Given the description of an element on the screen output the (x, y) to click on. 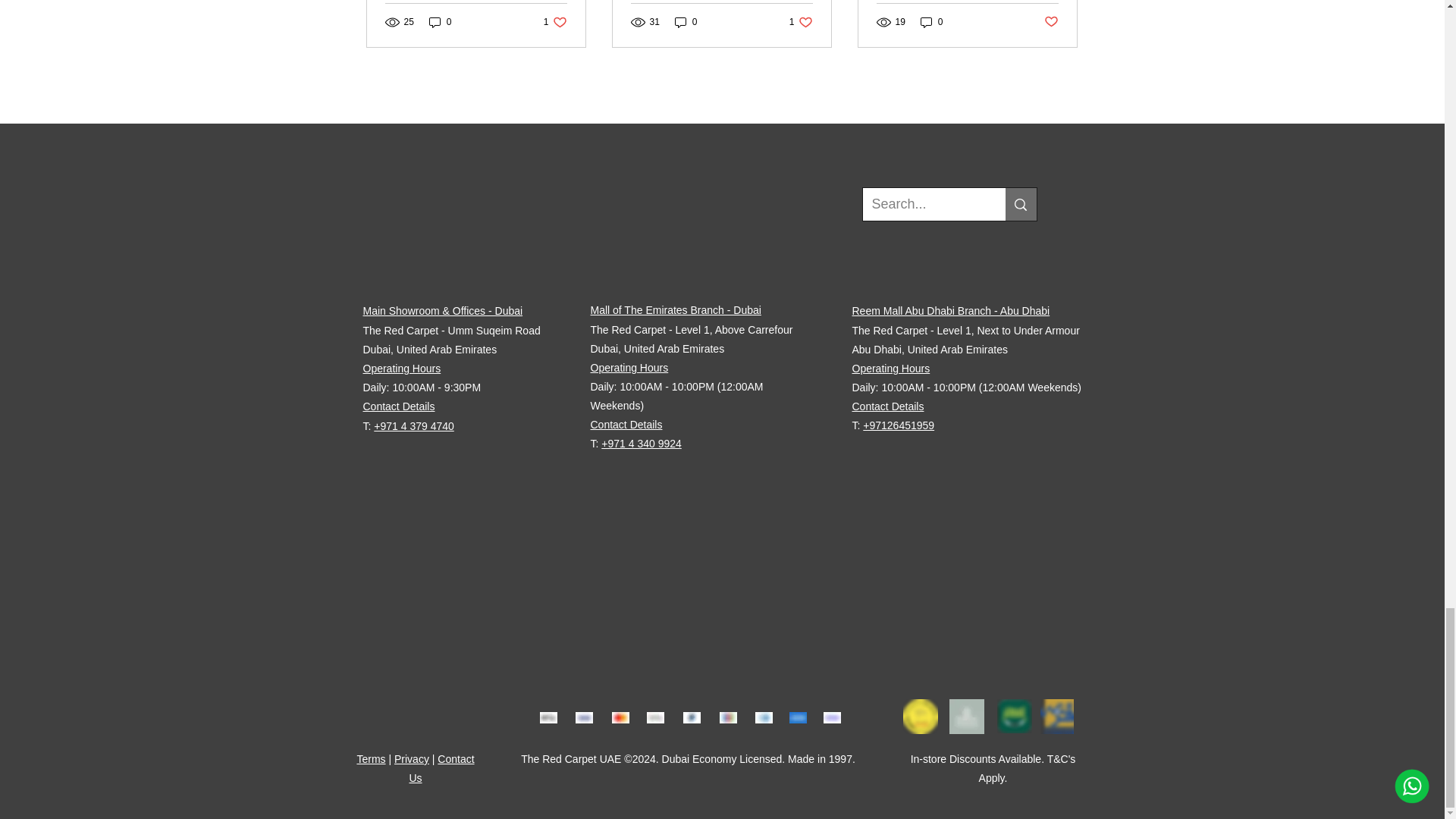
Client 17 (764, 717)
Client 17 (800, 22)
Client 17 (727, 717)
0 (555, 22)
Client 17 (919, 716)
Client 17 (440, 22)
Client 17 (966, 716)
Client 17 (691, 717)
Client 17 (548, 717)
Client 17 (1056, 716)
Client 17 (797, 717)
Client 17 (619, 717)
Client 17 (1012, 716)
